Given the description of an element on the screen output the (x, y) to click on. 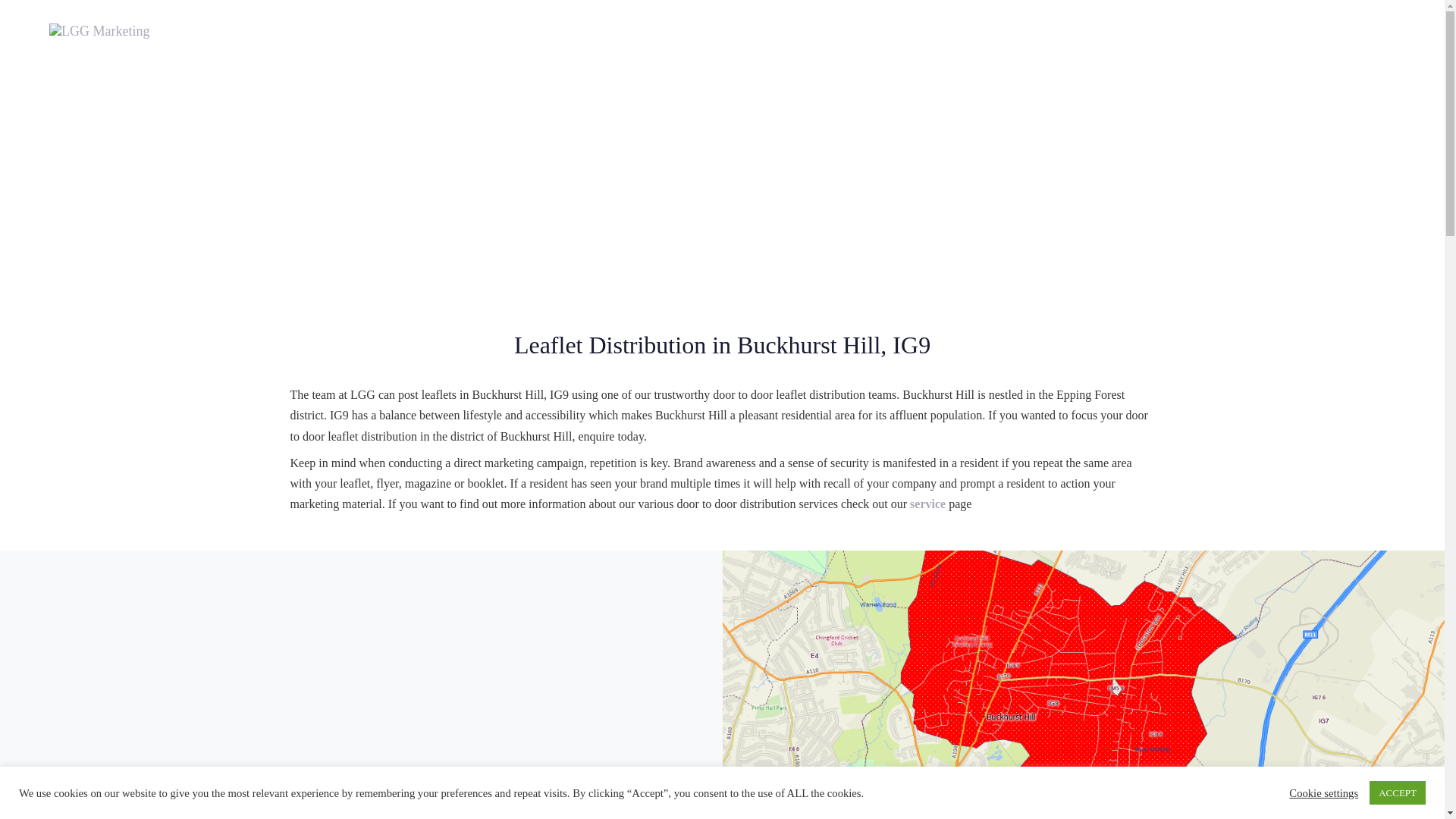
OUR SERVICES (511, 31)
CONTACT US (1084, 31)
RECYCLING (751, 31)
AREAS WE COVER (636, 31)
HOME (338, 31)
MAGAZINE ADVERTISING (890, 31)
service (927, 503)
ABOUT US (411, 31)
